Given the description of an element on the screen output the (x, y) to click on. 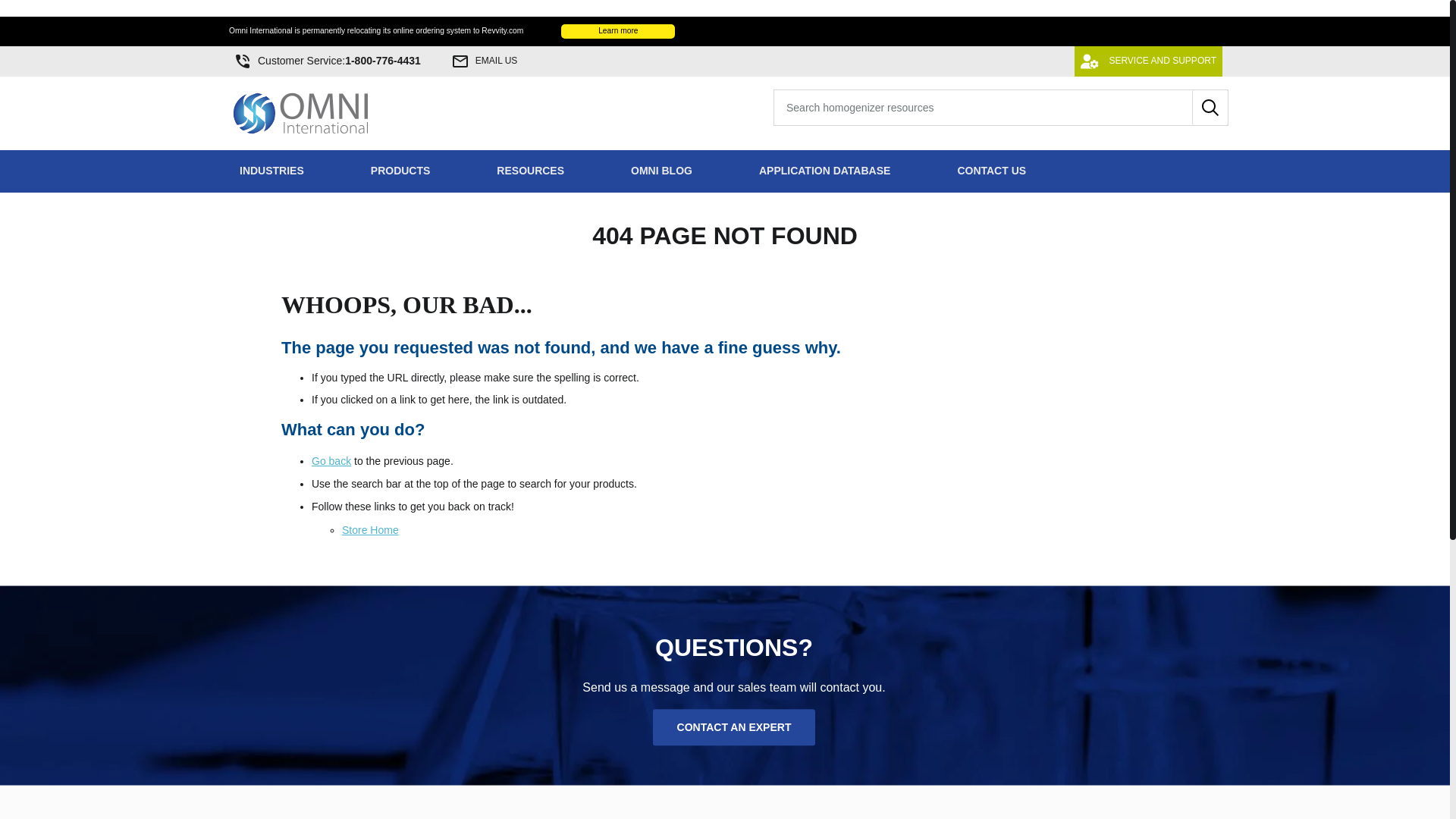
SERVICE AND SUPPORT (1148, 60)
Omni Logo (326, 60)
EMAIL US (300, 113)
Learn more (484, 60)
